Given the description of an element on the screen output the (x, y) to click on. 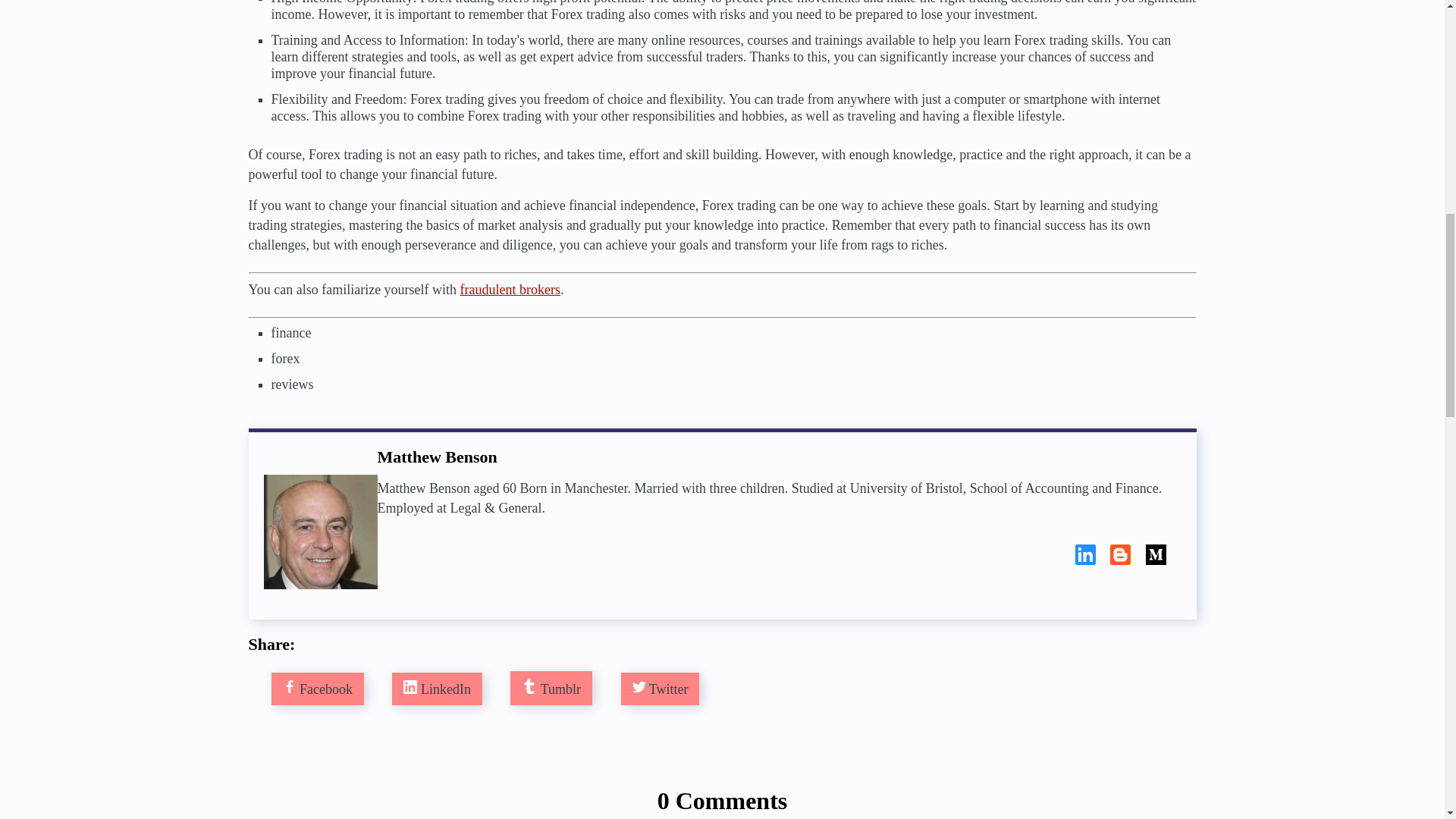
Share on Tumblr (550, 688)
reviews (292, 384)
forex (284, 358)
Tumblr (550, 688)
Matthew Benson (320, 531)
Tweet (659, 688)
LinkedIn (436, 688)
Share on LinkedIn (436, 688)
Facebook (317, 688)
finance (290, 332)
fraudulent brokers (510, 289)
Share on Facebook (317, 688)
Twitter (659, 688)
